Given the description of an element on the screen output the (x, y) to click on. 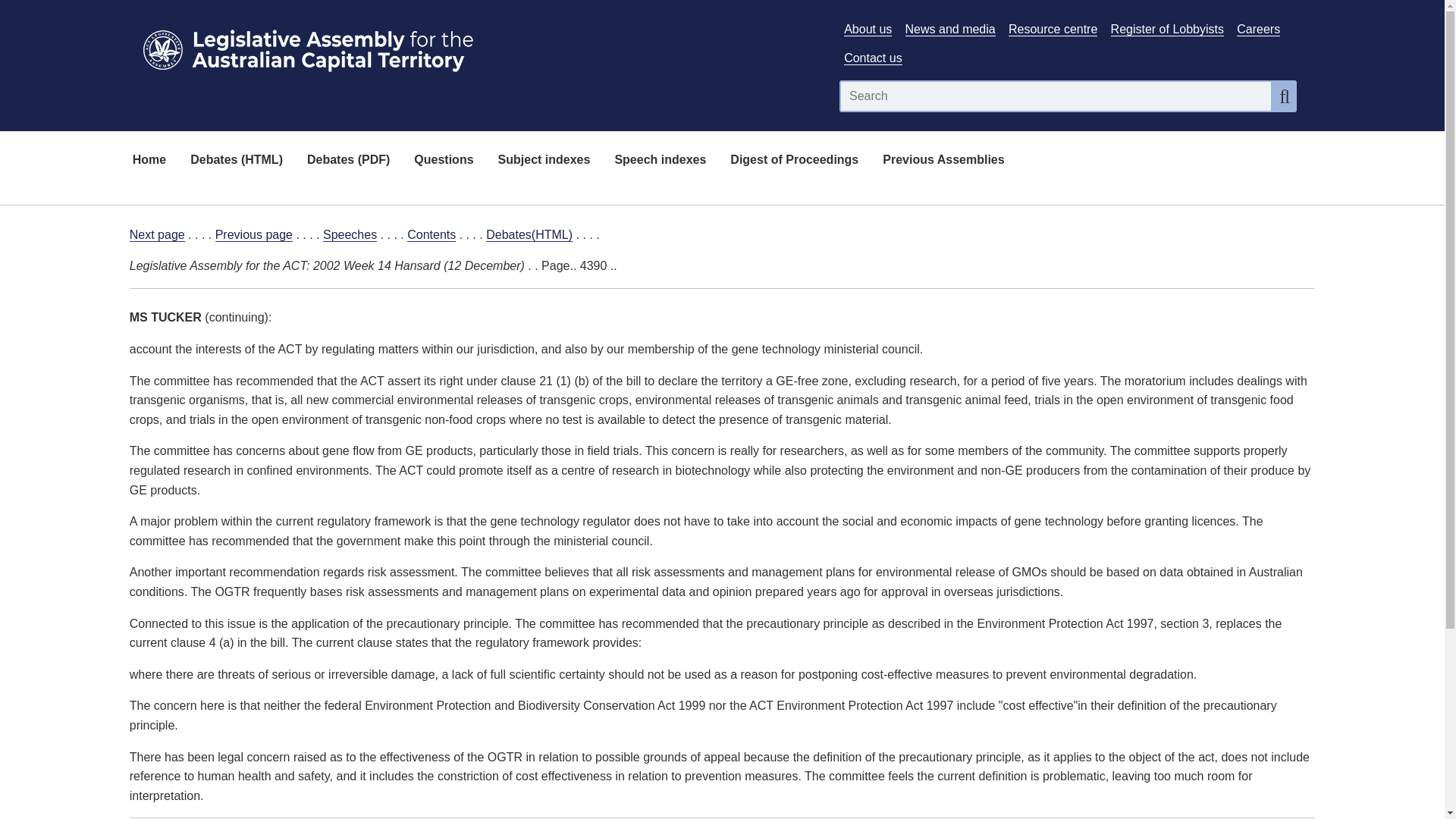
Register of Lobbyists (1167, 29)
Previous page (253, 234)
Link to Register of Lobbyists (1167, 29)
Contents (431, 234)
About us (867, 29)
Home (148, 160)
Questions (442, 160)
Contact us (872, 58)
Resource centre (1053, 29)
Speeches (350, 234)
